Given the description of an element on the screen output the (x, y) to click on. 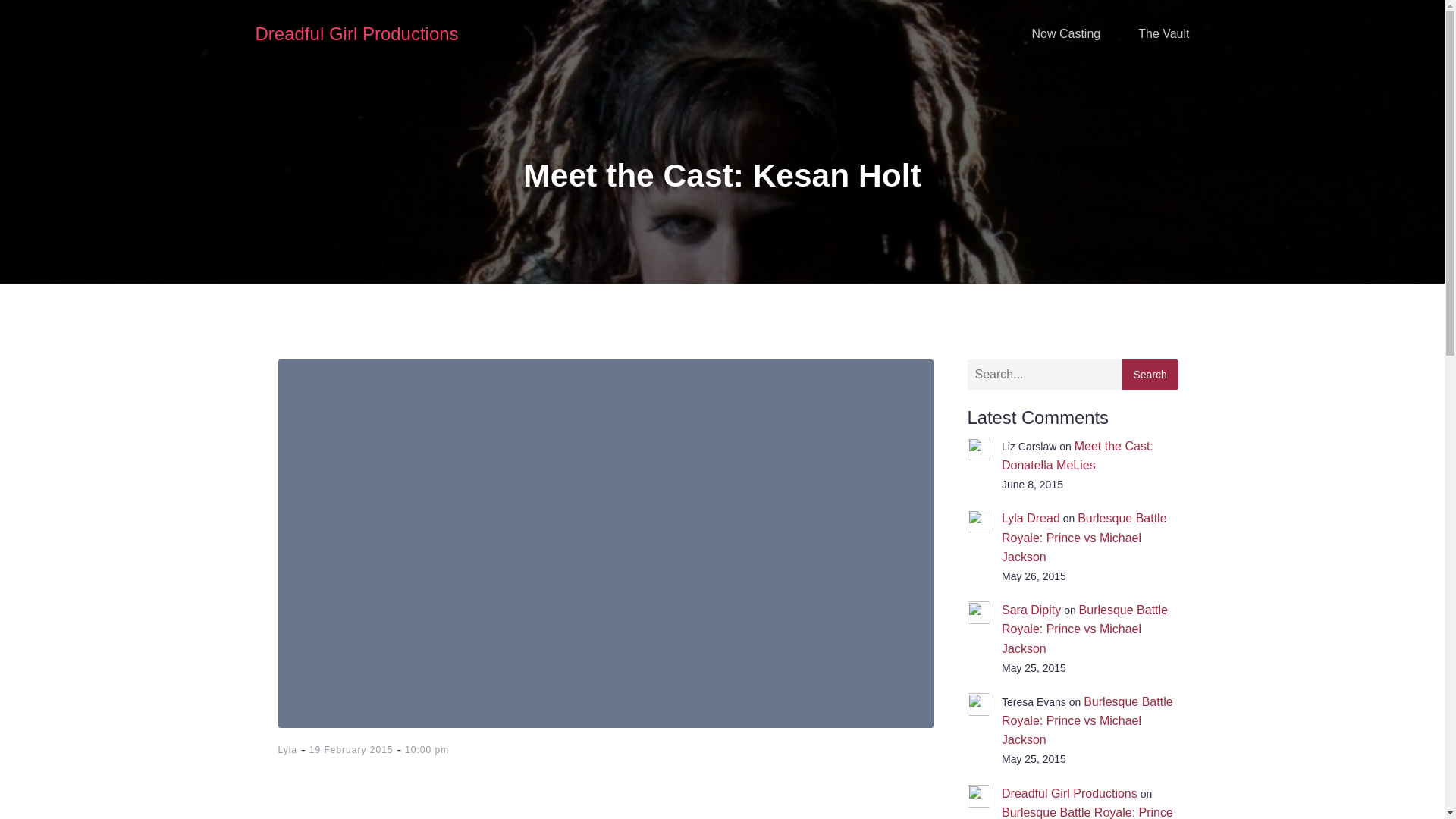
Lyla Dread (1030, 517)
Dreadful Girl Productions (356, 33)
Meet the Cast: Donatella MeLies (1077, 455)
Now Casting (1065, 33)
The Vault (1163, 33)
Dreadful Girl Productions (1069, 793)
10:00 pm (426, 749)
Burlesque Battle Royale: Prince vs Michael Jackson (1084, 536)
Lyla (287, 749)
Burlesque Battle Royale: Prince vs Michael Jackson (1087, 720)
